Given the description of an element on the screen output the (x, y) to click on. 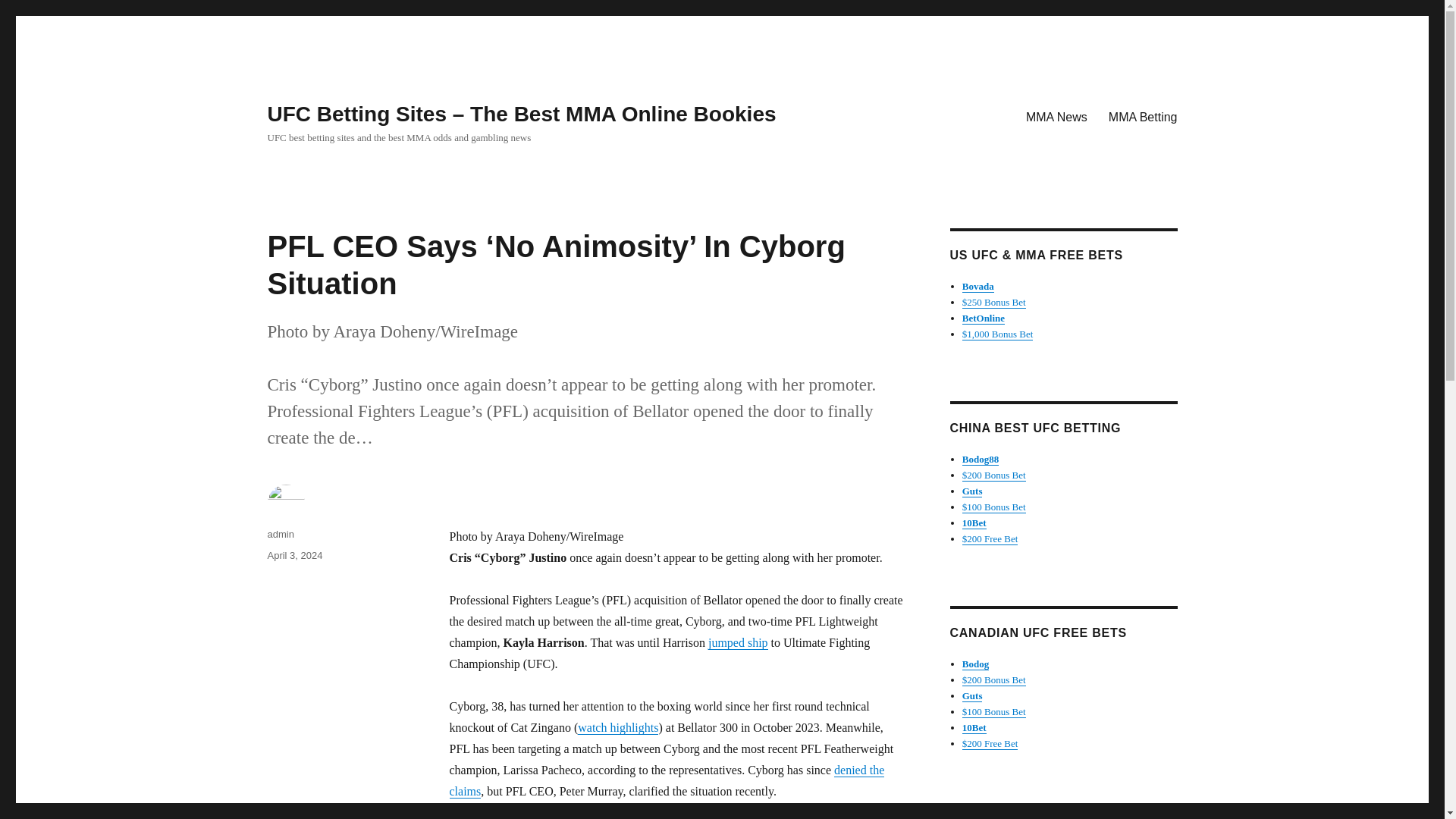
BetOnline (983, 317)
MMA News (1055, 116)
Bodog88 (980, 459)
April 3, 2024 (293, 555)
Bodog (975, 663)
watch highlights (618, 727)
Bovada (978, 285)
10Bet (974, 727)
jumped ship (737, 642)
Guts (972, 695)
MMA Betting (1142, 116)
denied the claims (665, 780)
admin (280, 533)
Guts (972, 490)
10Bet (974, 522)
